Given the description of an element on the screen output the (x, y) to click on. 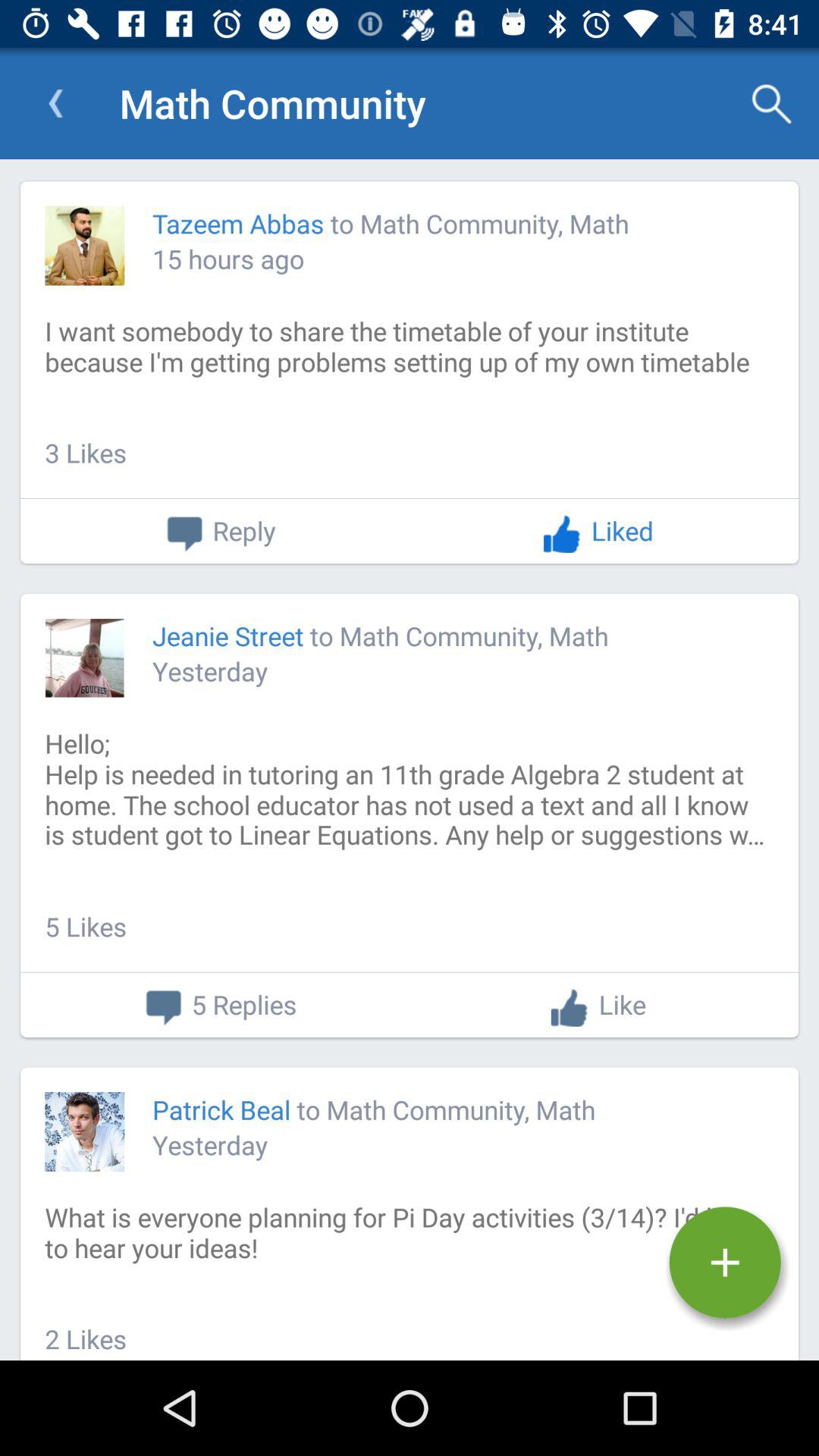
click on the image of tazeem abbas (84, 245)
